Given the description of an element on the screen output the (x, y) to click on. 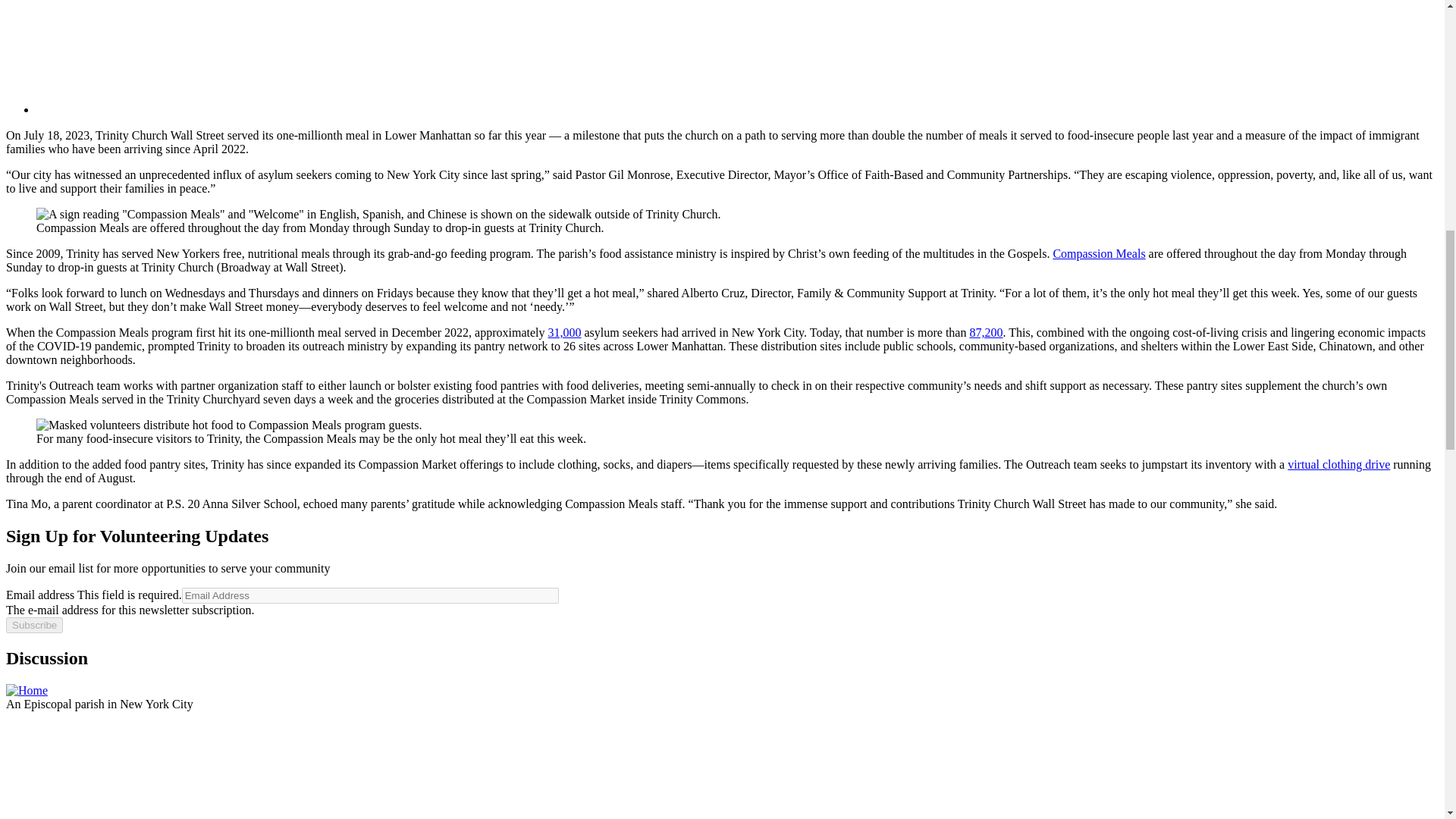
87,200 (986, 332)
Home (26, 689)
Subscribe (33, 625)
virtual clothing drive (1338, 463)
Subscribe (33, 625)
31,000 (563, 332)
Compassion Meals (1098, 253)
